Given the description of an element on the screen output the (x, y) to click on. 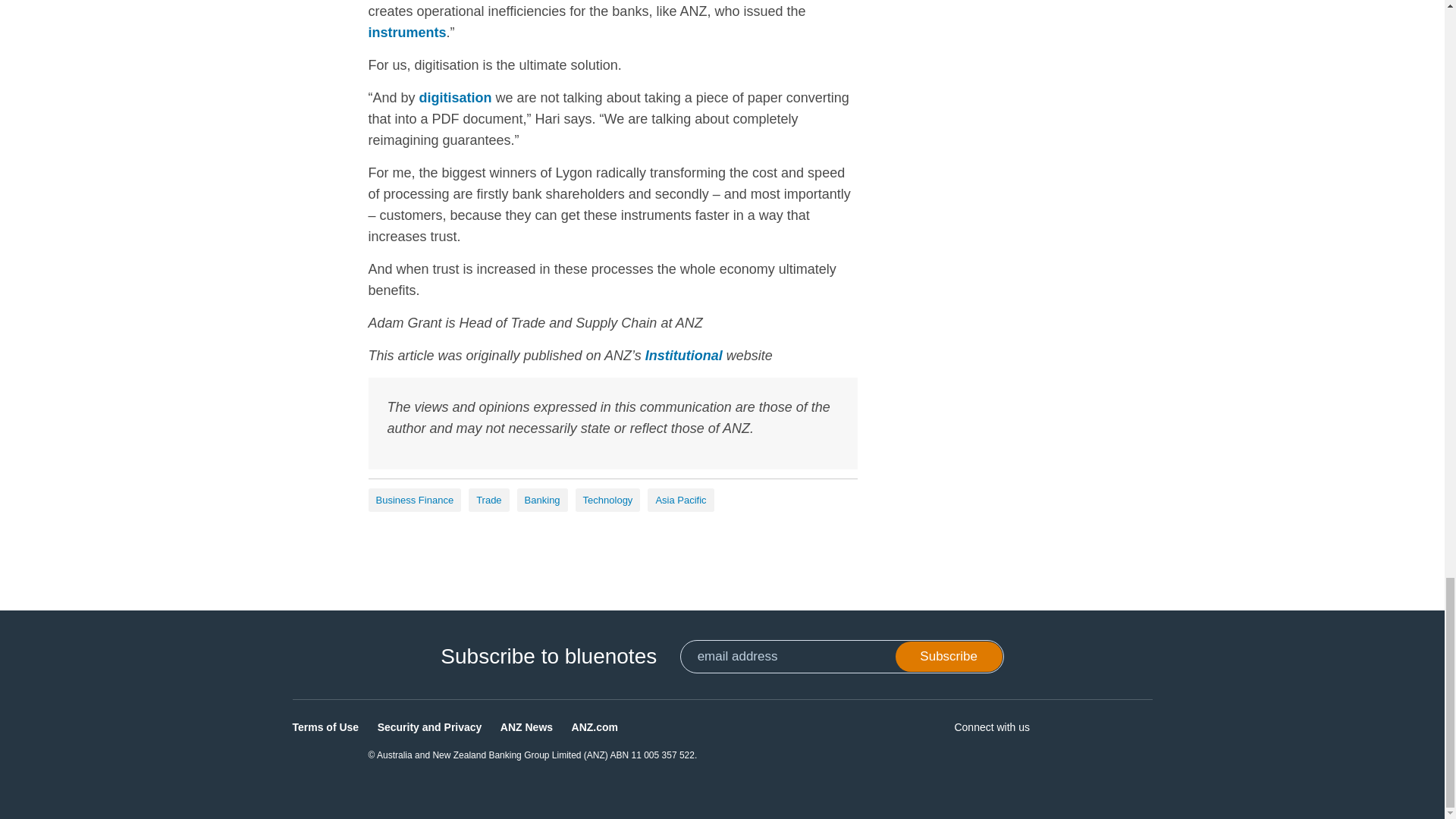
Security and Privacy (429, 727)
Banking (541, 499)
ANZ.com (594, 727)
Business Finance (414, 499)
Trade (488, 499)
Terms of Use (325, 727)
ANZ News (526, 727)
Technology (607, 499)
Asia Pacific (680, 499)
